Given the description of an element on the screen output the (x, y) to click on. 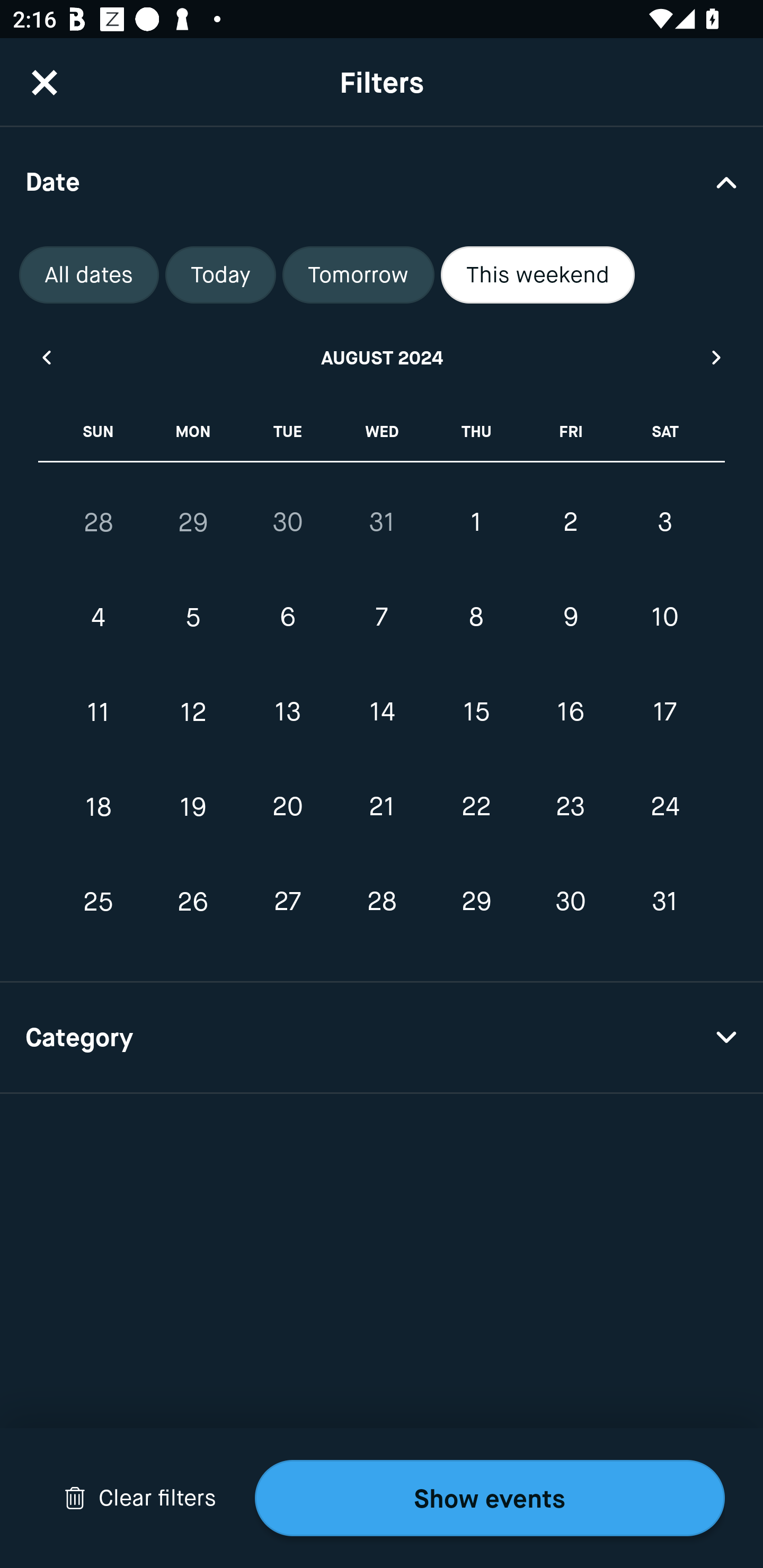
CloseButton (44, 82)
Date Drop Down Arrow (381, 181)
All dates (88, 274)
Today (220, 274)
Tomorrow (358, 274)
This weekend (537, 274)
Previous (45, 357)
Next (717, 357)
28 (98, 522)
29 (192, 522)
30 (287, 522)
31 (381, 522)
1 (475, 522)
2 (570, 522)
3 (664, 522)
4 (98, 617)
5 (192, 617)
6 (287, 617)
7 (381, 617)
8 (475, 617)
9 (570, 617)
10 (664, 617)
11 (98, 711)
12 (192, 711)
13 (287, 711)
14 (381, 711)
15 (475, 711)
16 (570, 711)
17 (664, 711)
18 (98, 806)
19 (192, 806)
20 (287, 806)
21 (381, 806)
22 (475, 806)
23 (570, 806)
24 (664, 806)
25 (98, 901)
26 (192, 901)
27 (287, 901)
28 (381, 901)
29 (475, 901)
30 (570, 901)
31 (664, 901)
Category Drop Down Arrow (381, 1038)
Drop Down Arrow Clear filters (139, 1497)
Show events (489, 1497)
